Given the description of an element on the screen output the (x, y) to click on. 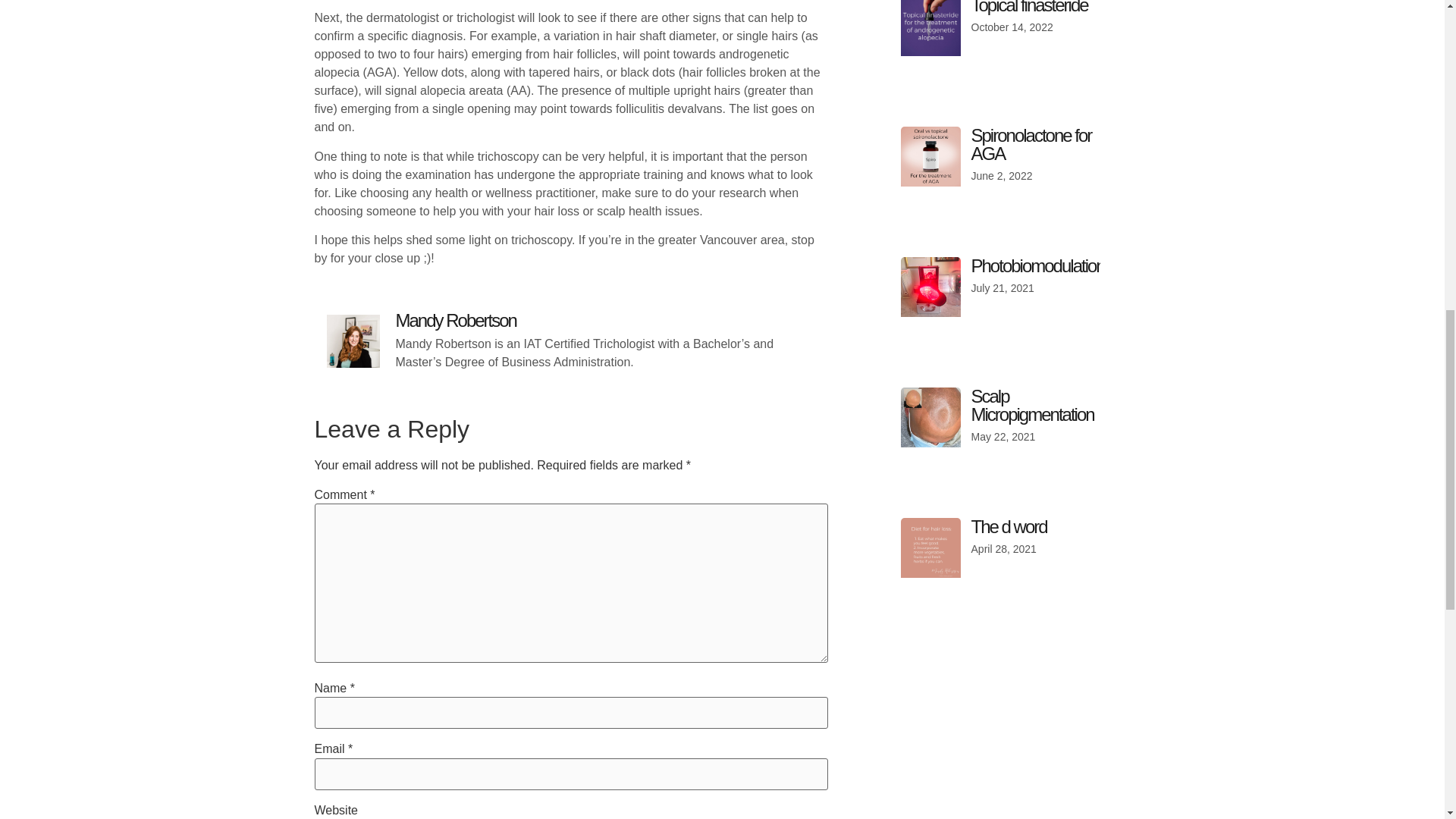
Scalp Micropigmentation (1032, 405)
Photobiomodulation (1038, 265)
Topical finasteride (1029, 7)
Spironolactone for AGA (1031, 144)
The d word (1008, 526)
